Given the description of an element on the screen output the (x, y) to click on. 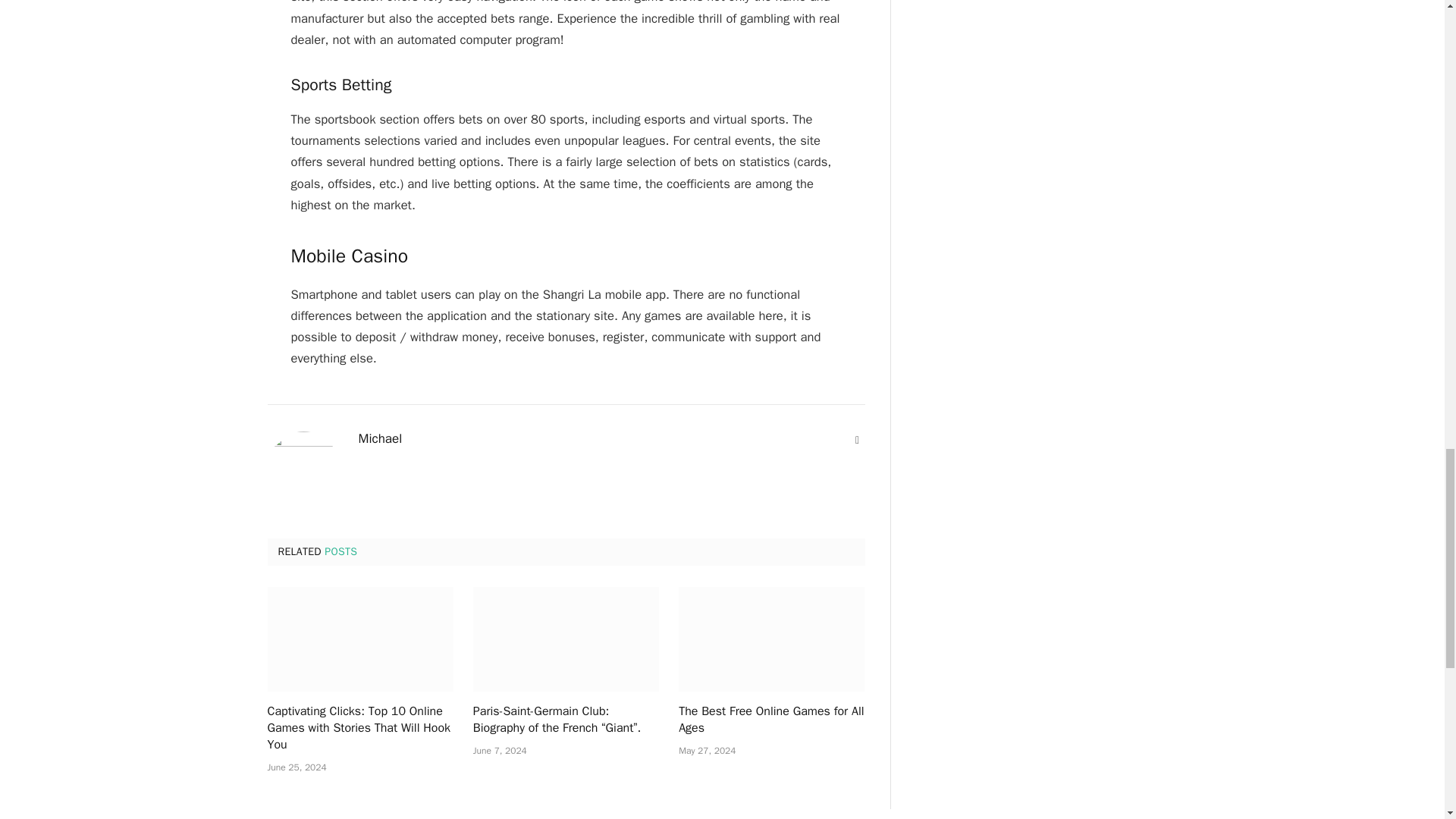
Michael (379, 438)
The Best Free Online Games for All Ages (771, 720)
Posts by Michael (379, 438)
The Best Free Online Games for All Ages (771, 639)
Website (856, 440)
Website (856, 440)
